Given the description of an element on the screen output the (x, y) to click on. 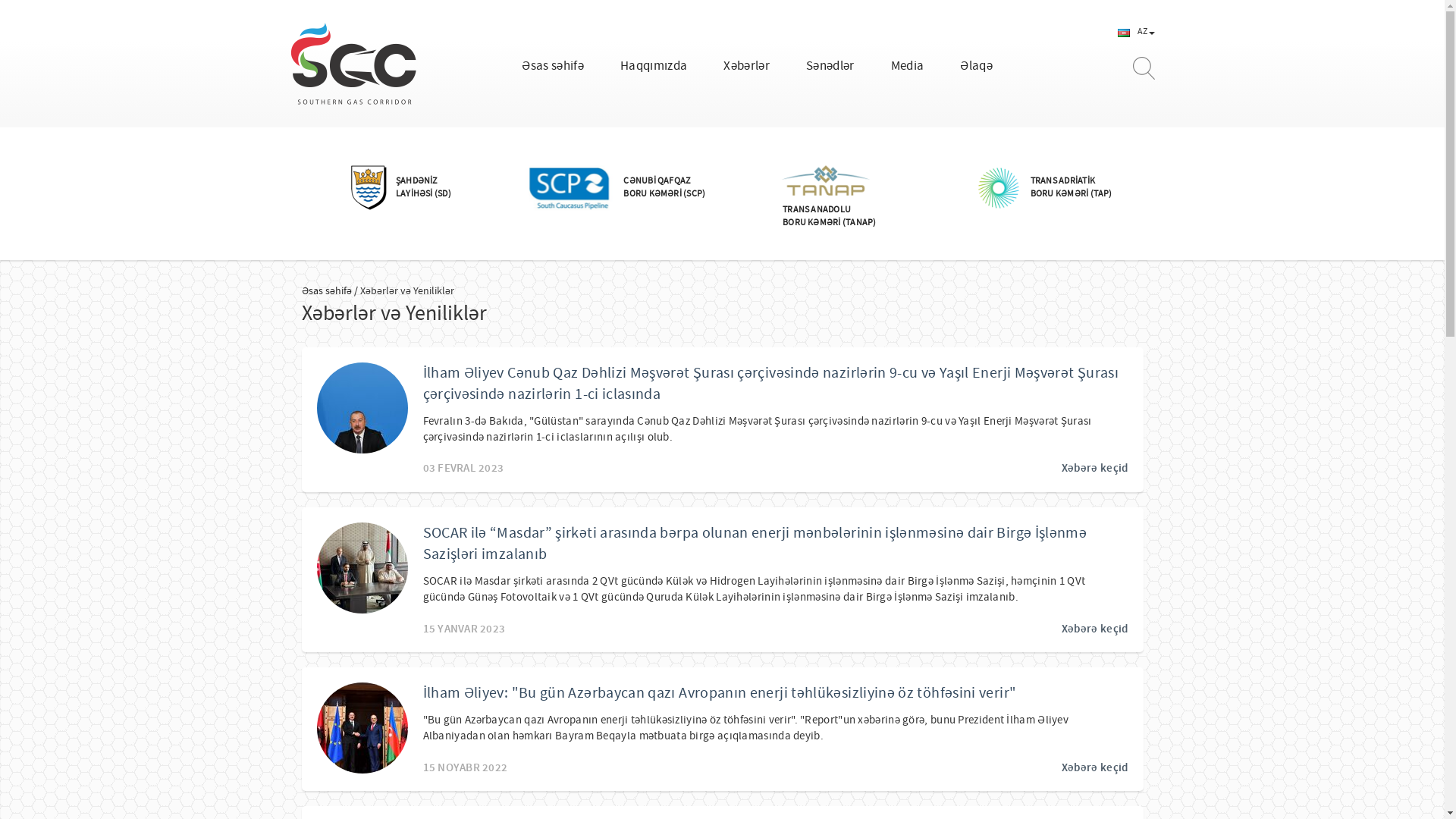
AZ Element type: text (1136, 30)
Media Element type: text (907, 65)
